Given the description of an element on the screen output the (x, y) to click on. 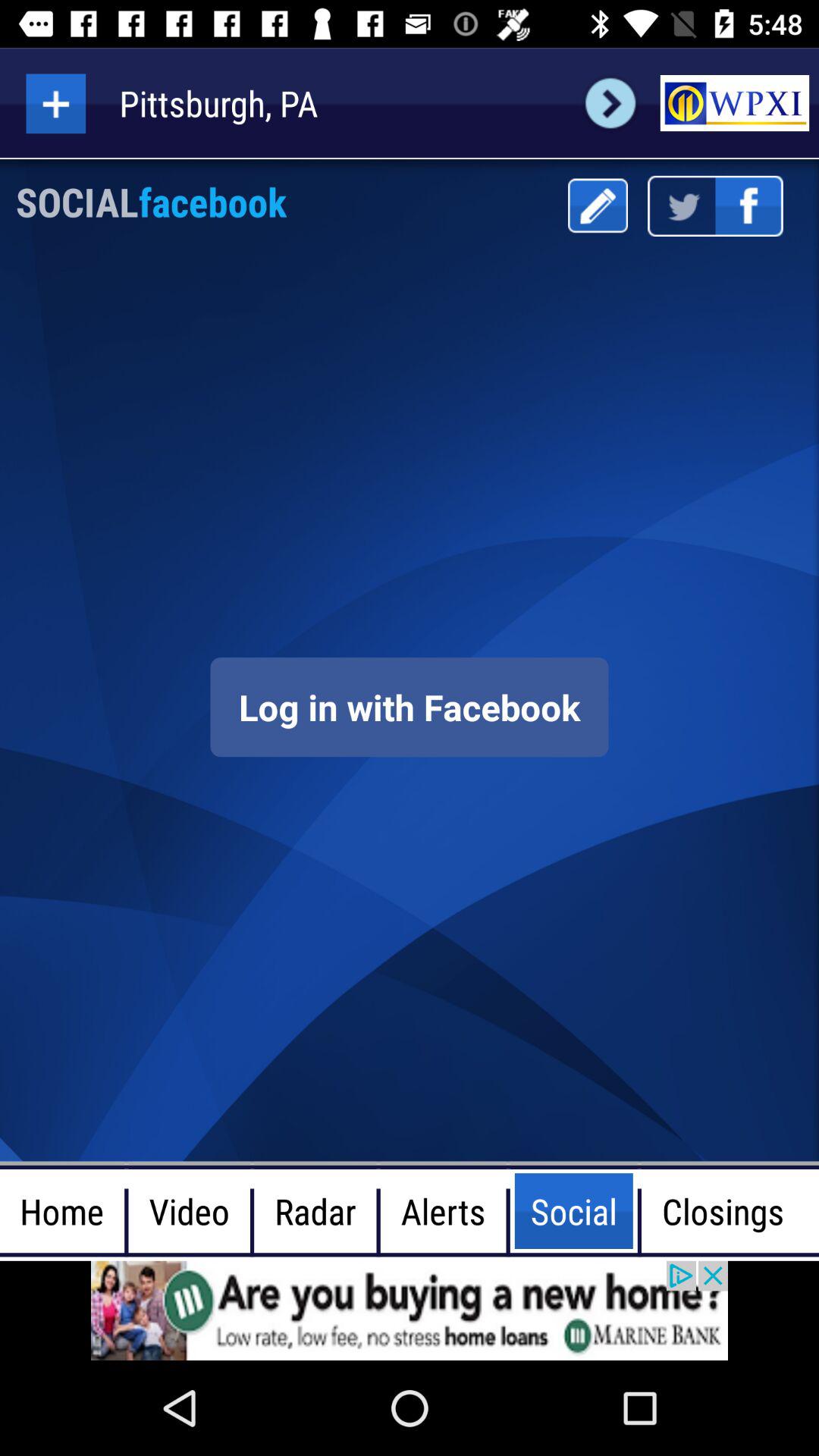
write something (597, 206)
